Given the description of an element on the screen output the (x, y) to click on. 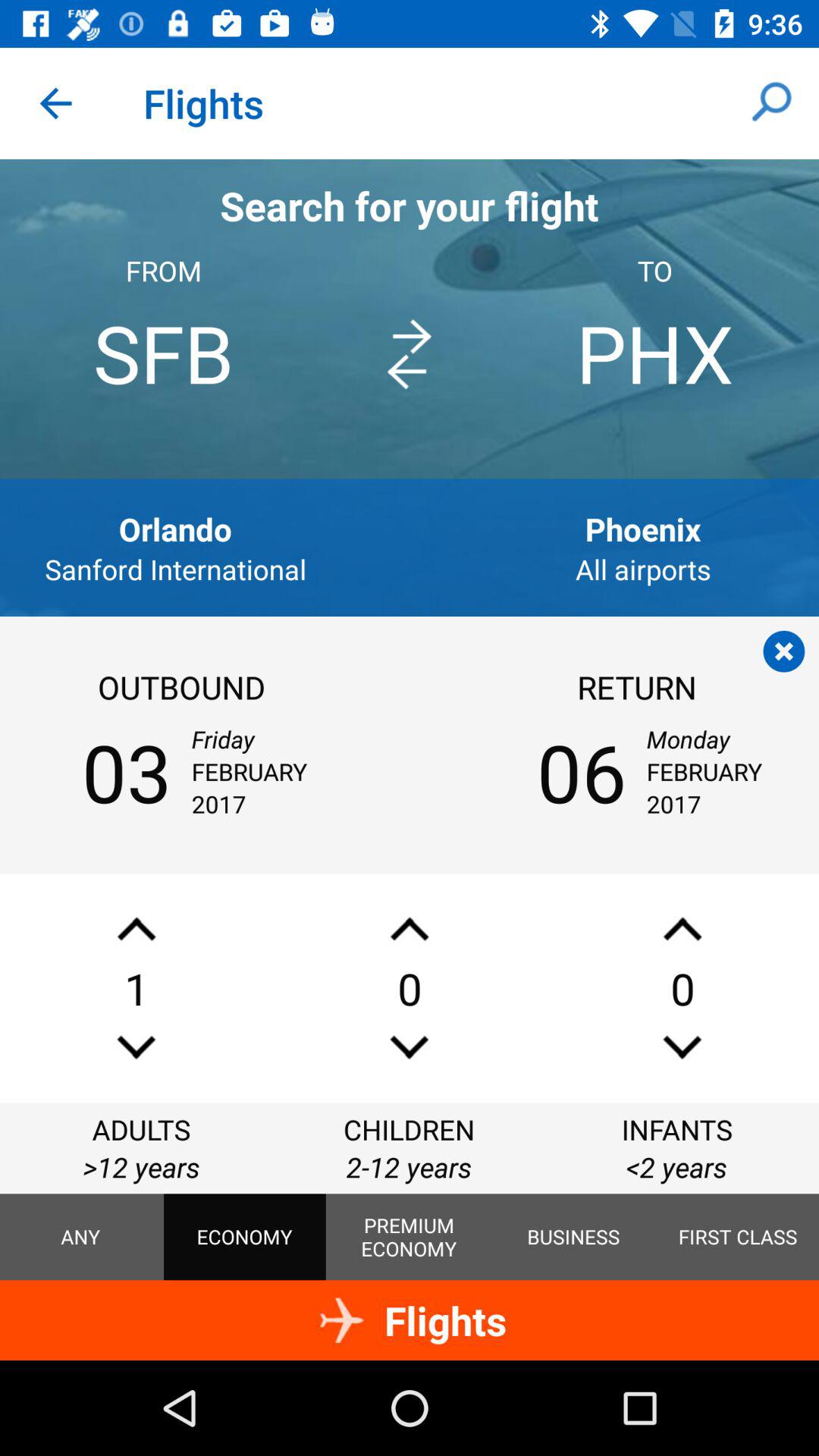
decrease number (136, 1047)
